Given the description of an element on the screen output the (x, y) to click on. 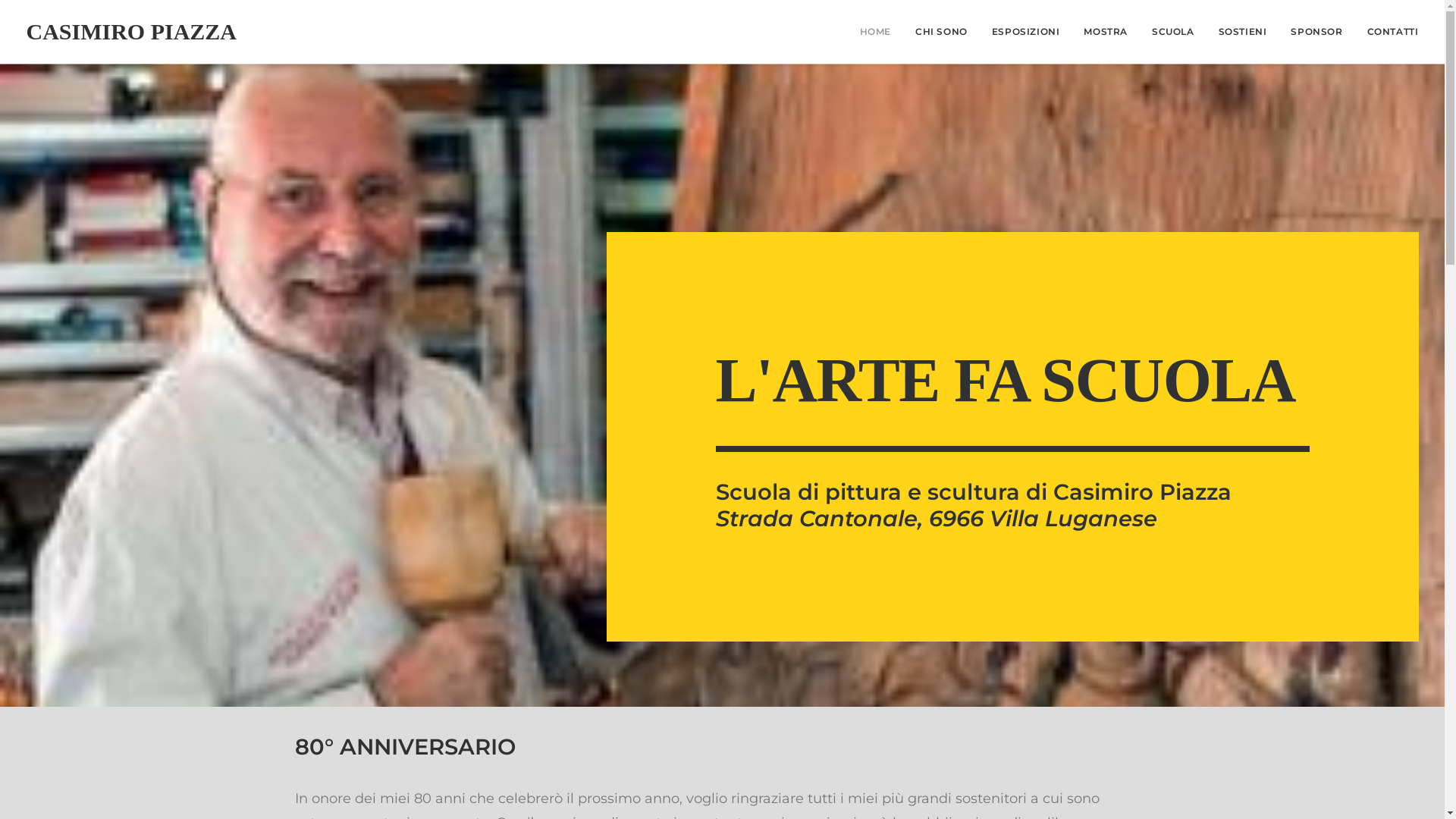
SOSTIENI Element type: text (1242, 31)
ESPOSIZIONI Element type: text (1025, 31)
SPONSOR Element type: text (1316, 31)
HOME Element type: text (880, 31)
CASIMIRO PIAZZA Element type: text (130, 31)
CONTATTI Element type: text (1387, 31)
CHI SONO Element type: text (941, 31)
MOSTRA Element type: text (1105, 31)
SCUOLA Element type: text (1172, 31)
